Given the description of an element on the screen output the (x, y) to click on. 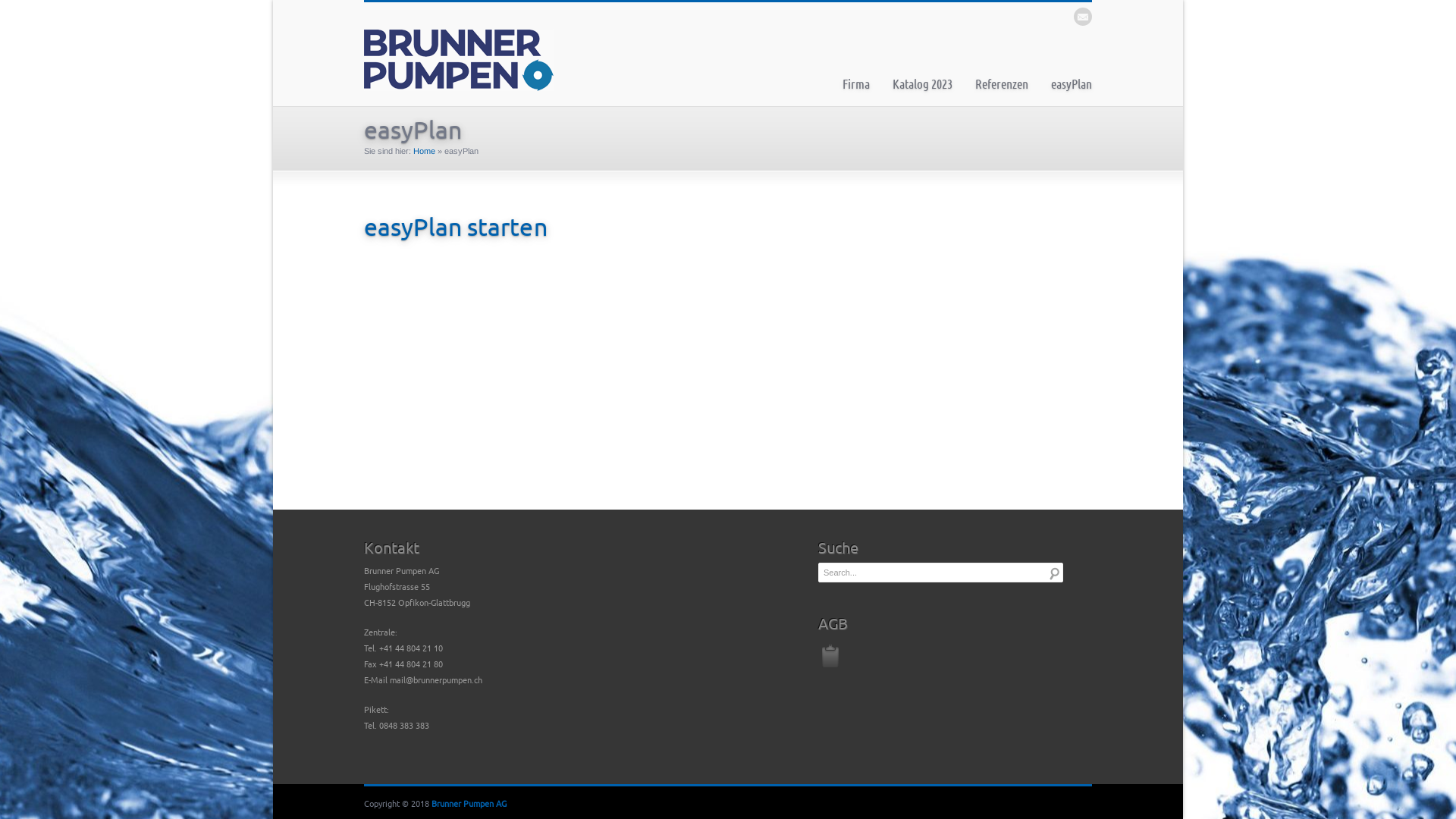
Brunner Pumpen AG Element type: text (468, 803)
Firma Element type: text (856, 83)
Referenzen Element type: text (1001, 83)
email Element type: text (1082, 16)
Home Element type: text (424, 150)
Search... Element type: text (1054, 572)
easyPlan starten Element type: text (455, 226)
AGB Element type: hover (830, 653)
easyPlan Element type: text (1071, 83)
Katalog 2023 Element type: text (922, 83)
